Given the description of an element on the screen output the (x, y) to click on. 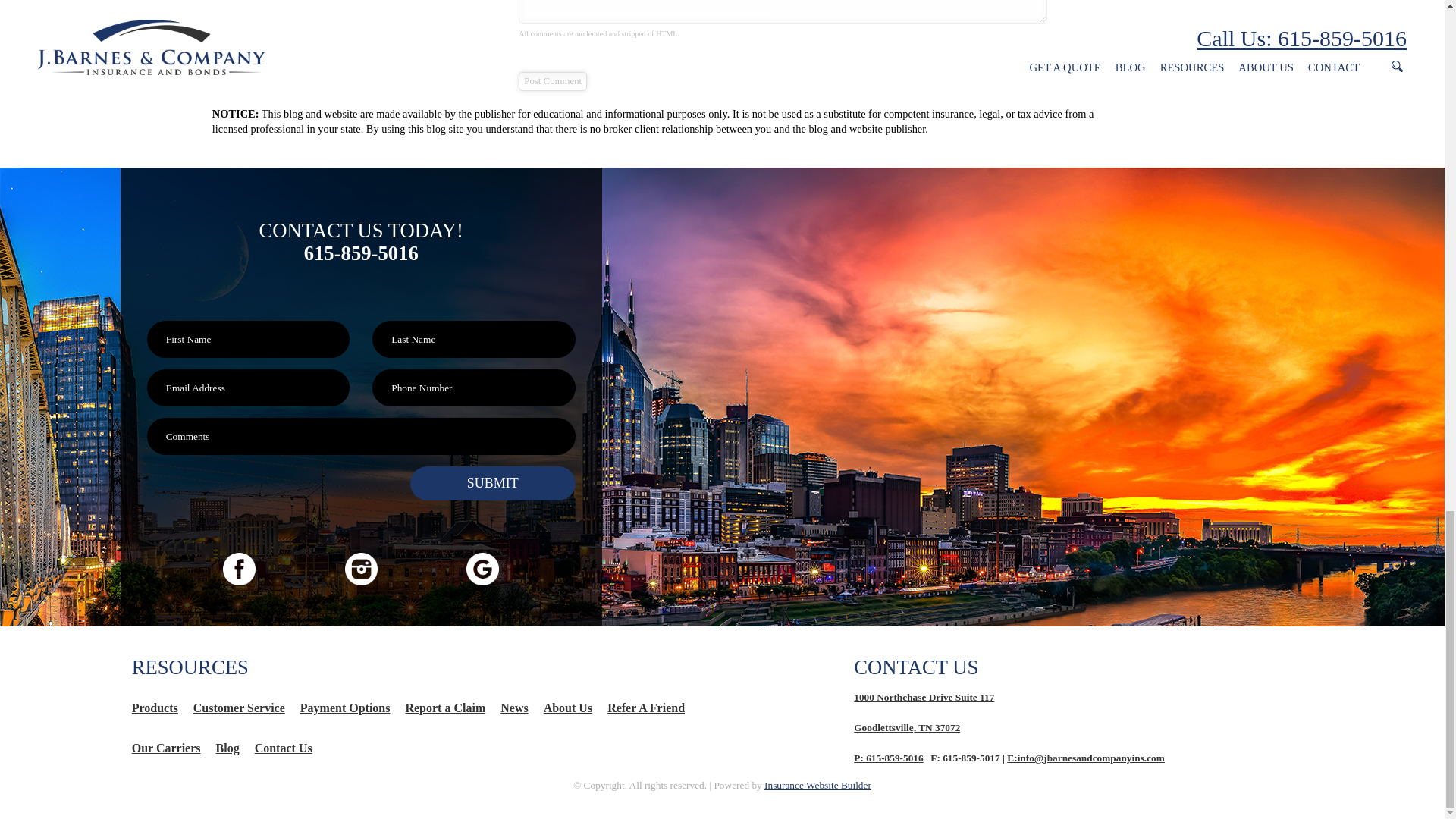
Post Comment (552, 81)
